Given the description of an element on the screen output the (x, y) to click on. 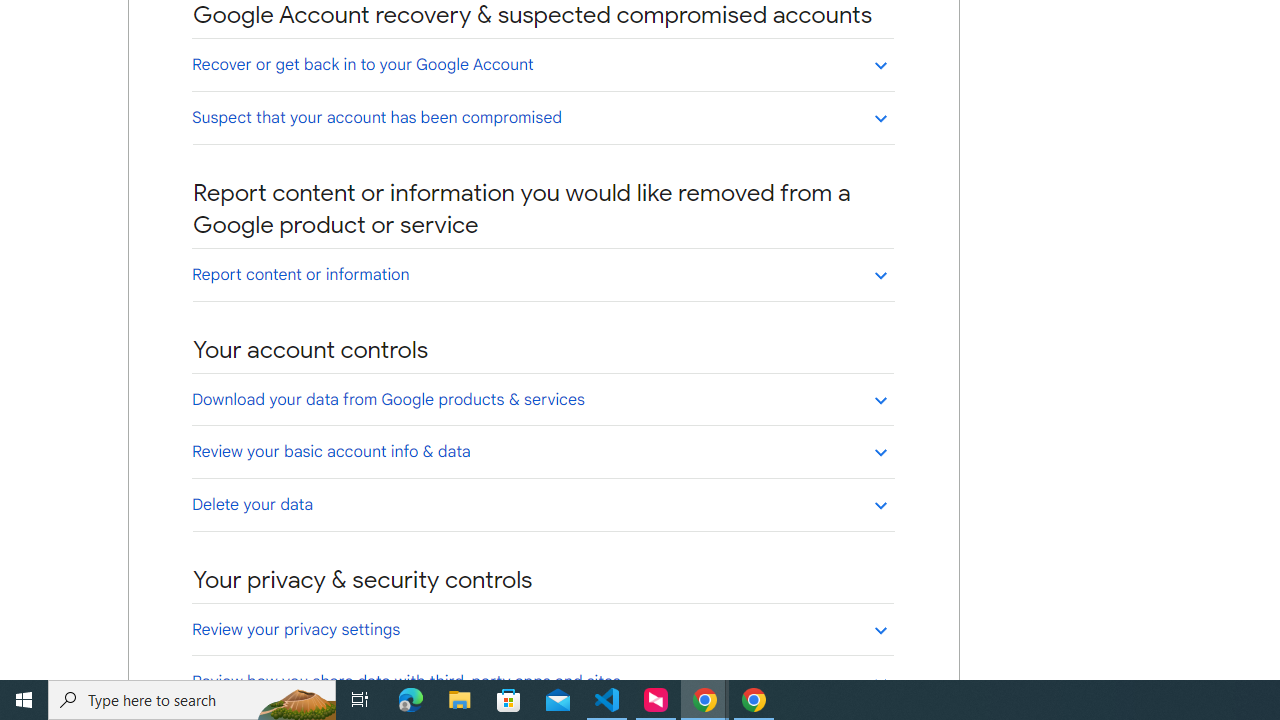
Review how you share data with third-party apps and sites (542, 681)
Review your basic account info & data (542, 451)
Suspect that your account has been compromised (542, 117)
Download your data from Google products & services (542, 399)
Recover or get back in to your Google Account (542, 64)
Review your privacy settings (542, 629)
Report content or information (542, 273)
Delete your data (542, 504)
